Given the description of an element on the screen output the (x, y) to click on. 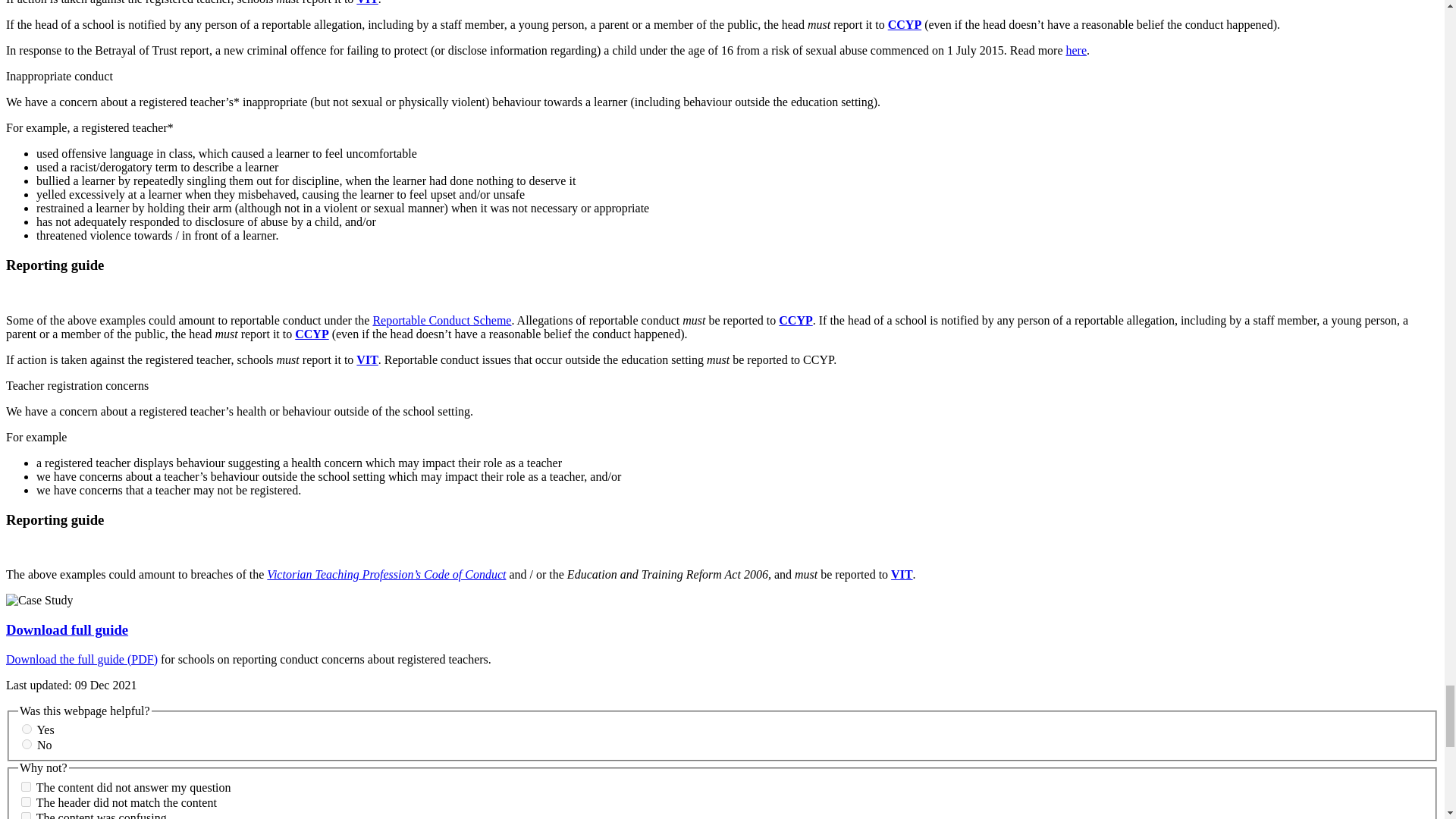
The content was confusing (25, 815)
no (26, 744)
yes (26, 728)
The content did not answer my question (25, 786)
The header did not match the content (25, 801)
